Given the description of an element on the screen output the (x, y) to click on. 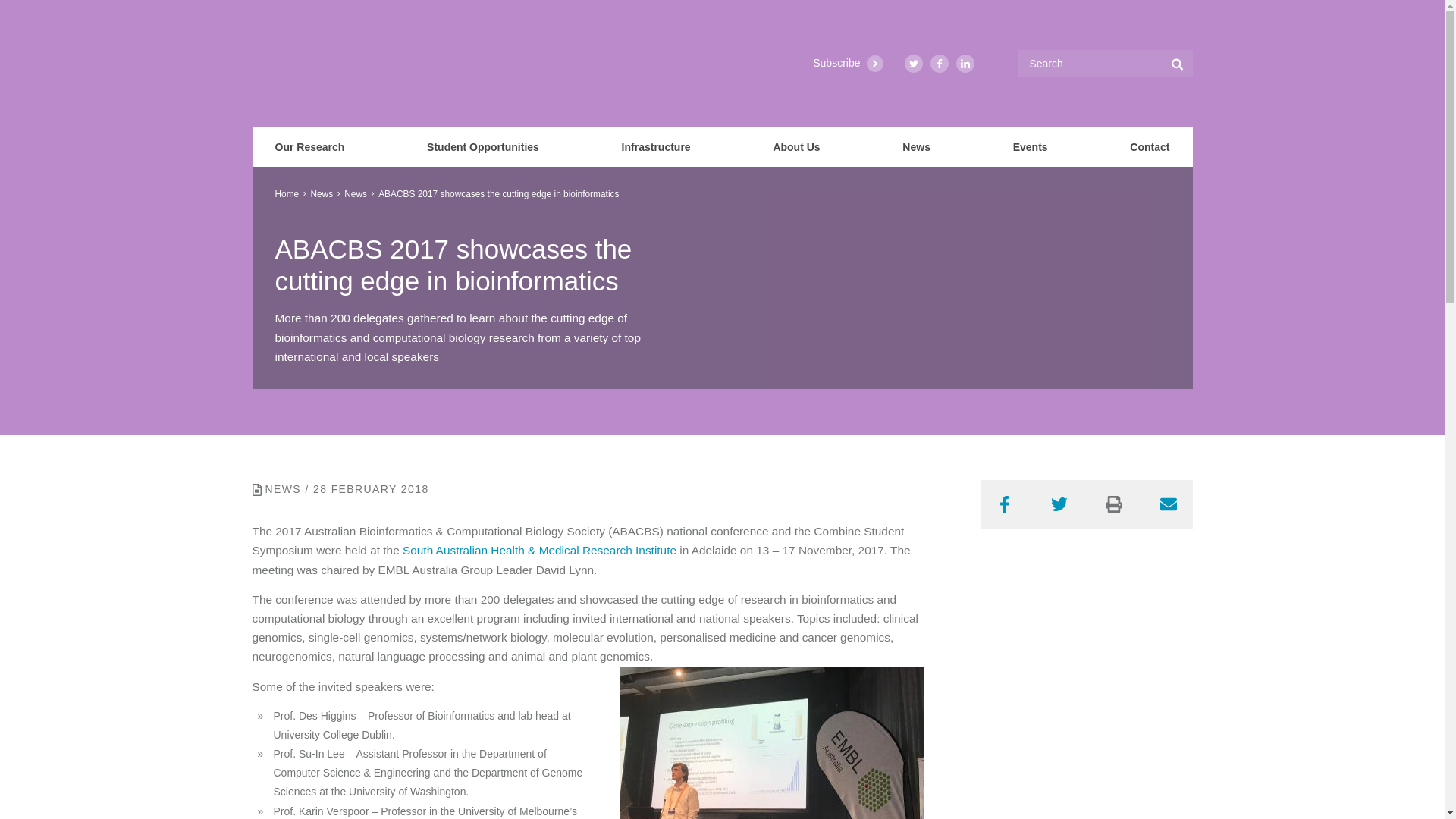
Twitter (912, 63)
About Us (796, 147)
News (354, 194)
News (321, 194)
Search (1176, 62)
LinkedIn (964, 63)
Subscribe (847, 63)
Facebook (1003, 503)
Home (286, 194)
Our Research (308, 147)
EMBL Australia (285, 63)
ABACBS 2017 showcases the cutting edge in bioinformatics (498, 194)
News (916, 147)
Student Opportunities (483, 147)
Infrastructure (655, 147)
